Given the description of an element on the screen output the (x, y) to click on. 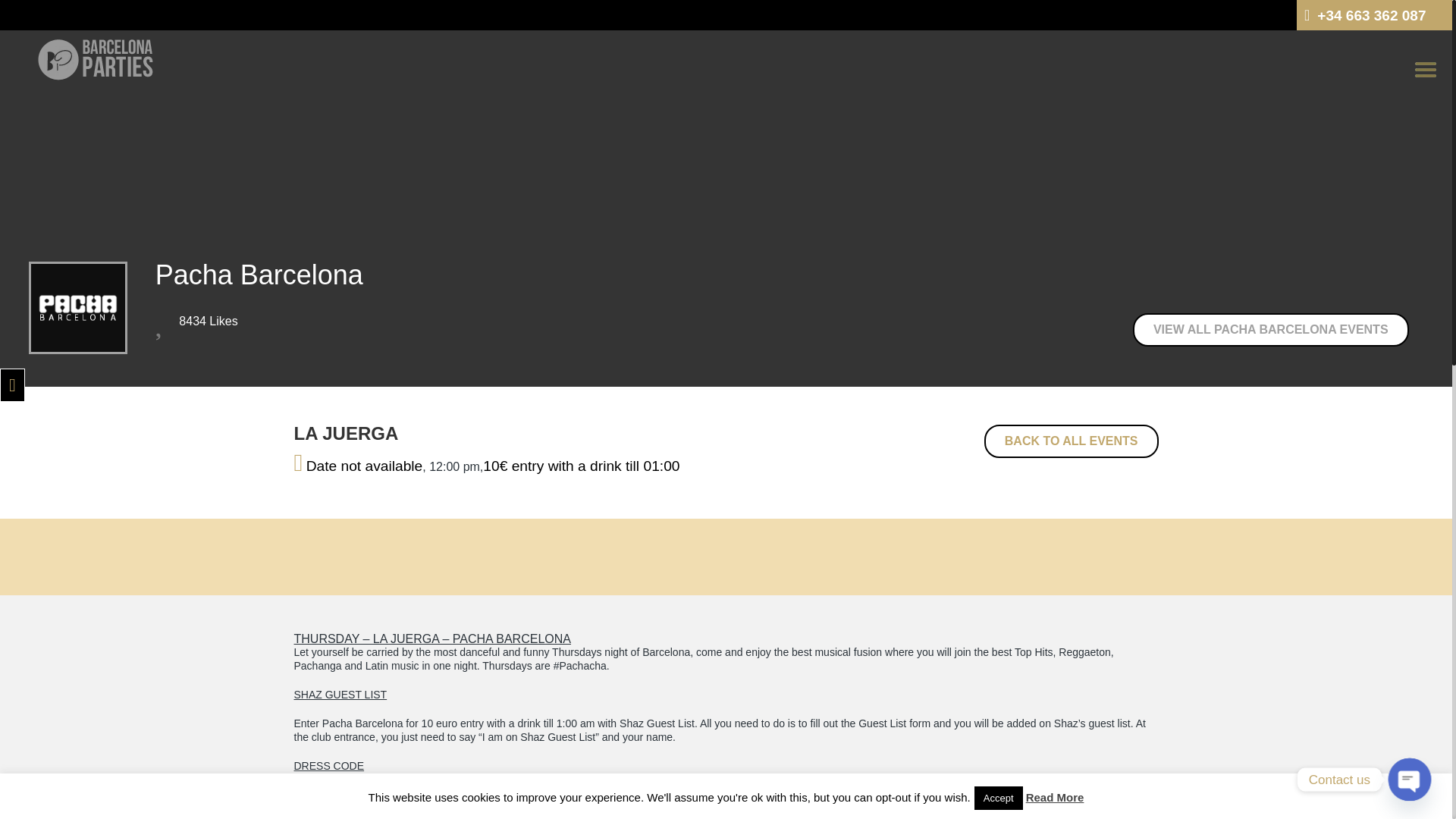
BACK TO ALL EVENTS (1071, 441)
VIEW ALL PACHA BARCELONA EVENTS (1270, 329)
Accept (998, 797)
Read More (1055, 797)
Shoko Barcelona (783, 808)
dress code at Pacha Barcelona. (783, 808)
